Given the description of an element on the screen output the (x, y) to click on. 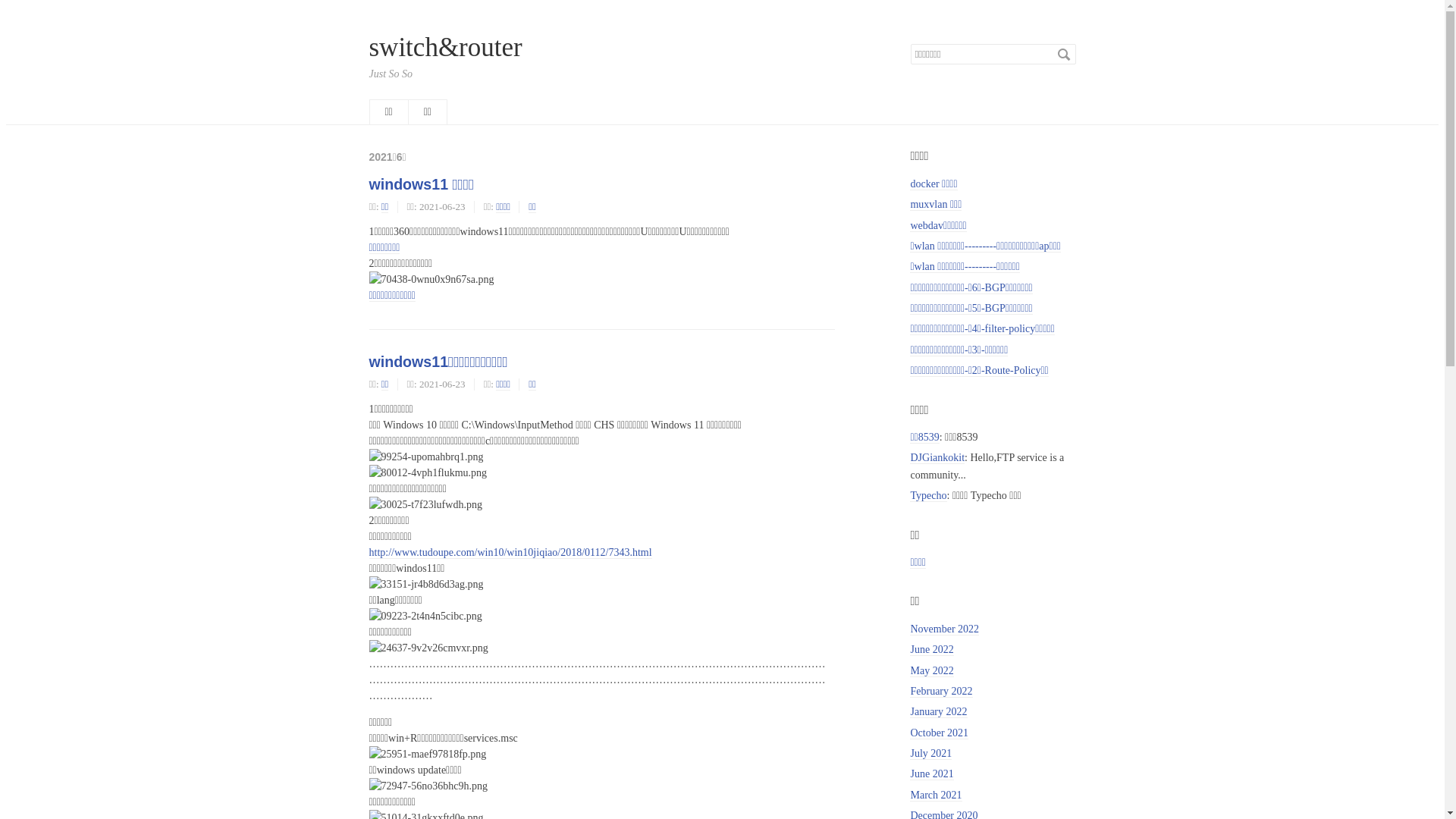
09223-2t4n4n5cibc.png Element type: hover (424, 616)
February 2022 Element type: text (941, 691)
switch&router Element type: text (444, 47)
99254-upomahbrq1.png Element type: hover (425, 456)
80012-4vph1flukmu.png Element type: hover (427, 472)
33151-jr4b8d6d3ag.png Element type: hover (425, 584)
http://www.tudoupe.com/win10/win10jiqiao/2018/0112/7343.html Element type: text (509, 552)
70438-0wnu0x9n67sa.png Element type: hover (430, 279)
25951-maef97818fp.png Element type: hover (427, 754)
Typecho Element type: text (928, 495)
July 2021 Element type: text (930, 753)
March 2021 Element type: text (935, 795)
November 2022 Element type: text (944, 629)
May 2022 Element type: text (931, 671)
72947-56no36bhc9h.png Element type: hover (427, 785)
June 2022 Element type: text (931, 649)
June 2021 Element type: text (931, 774)
January 2022 Element type: text (938, 712)
October 2021 Element type: text (939, 733)
30025-t7f23lufwdh.png Element type: hover (424, 504)
DJGiankokit Element type: text (937, 457)
24637-9v2v26cmvxr.png Element type: hover (427, 647)
